Given the description of an element on the screen output the (x, y) to click on. 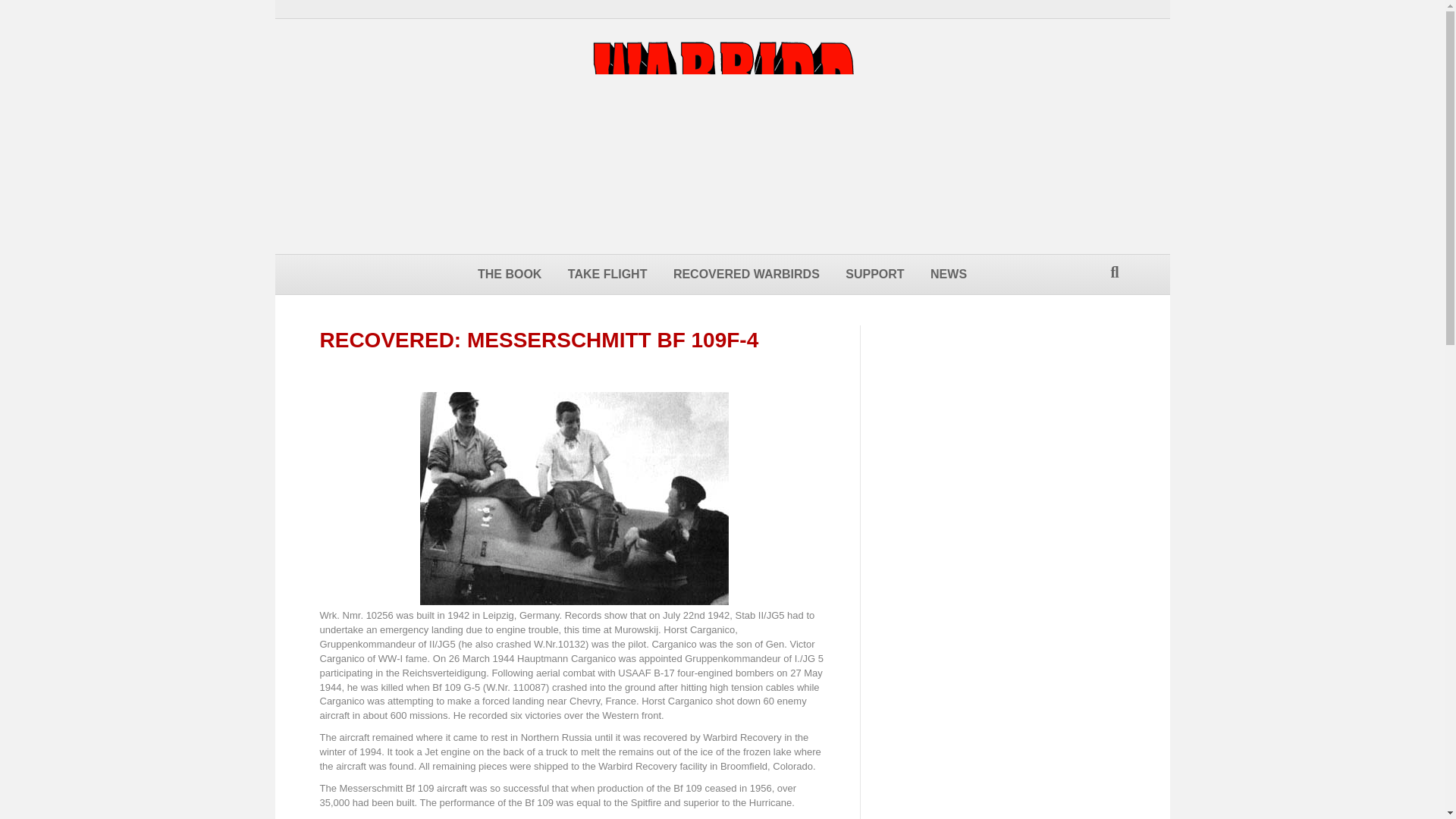
NEWS (948, 274)
THE BOOK (509, 274)
SUPPORT (874, 274)
TAKE FLIGHT (607, 274)
RECOVERED WARBIRDS (746, 274)
